Given the description of an element on the screen output the (x, y) to click on. 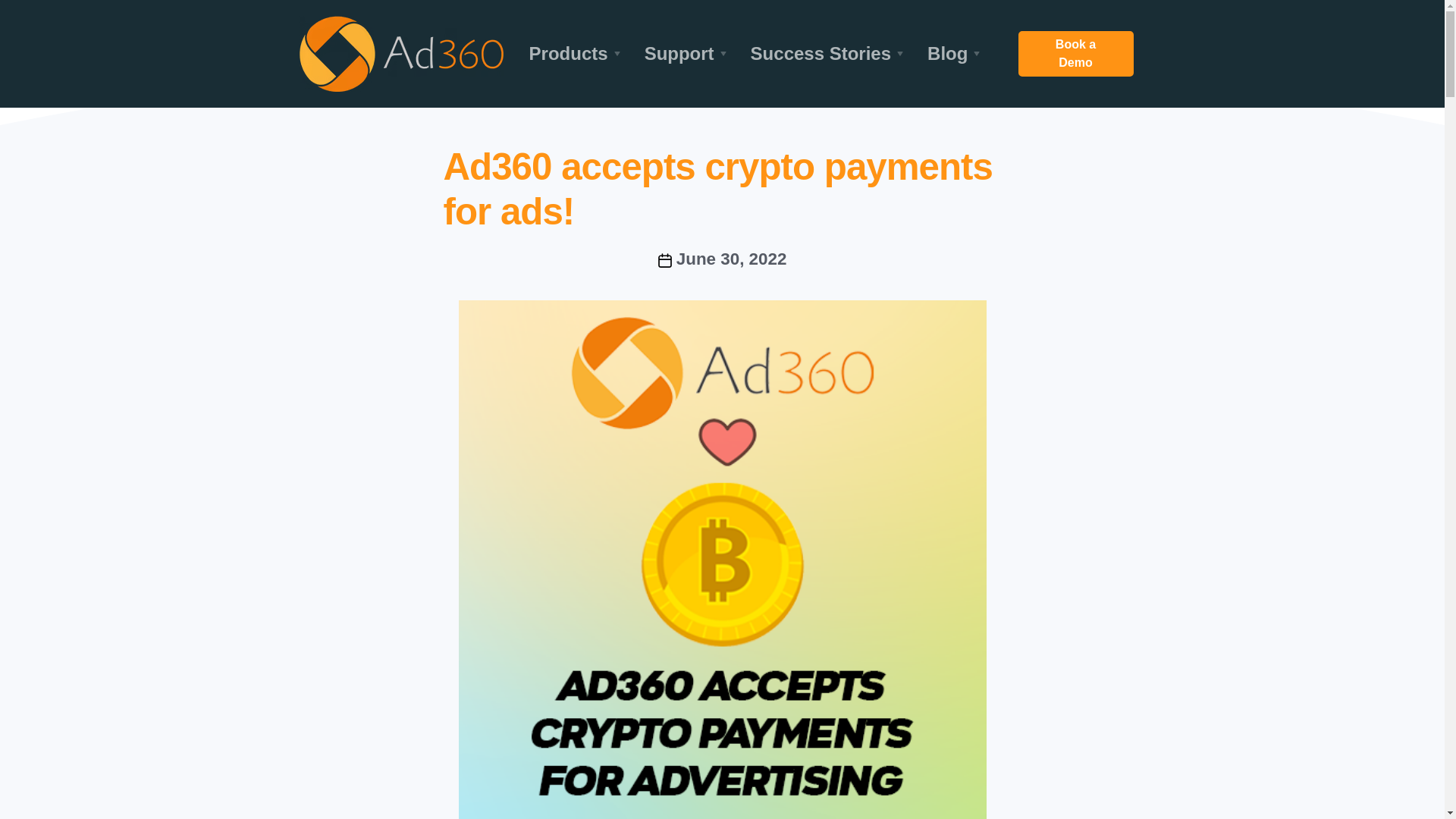
Book a Demo (1074, 53)
Ad360 accepts crypto payments for ads! (716, 188)
Support (687, 53)
Products (576, 53)
Success Stories (829, 53)
Blog (956, 53)
